Given the description of an element on the screen output the (x, y) to click on. 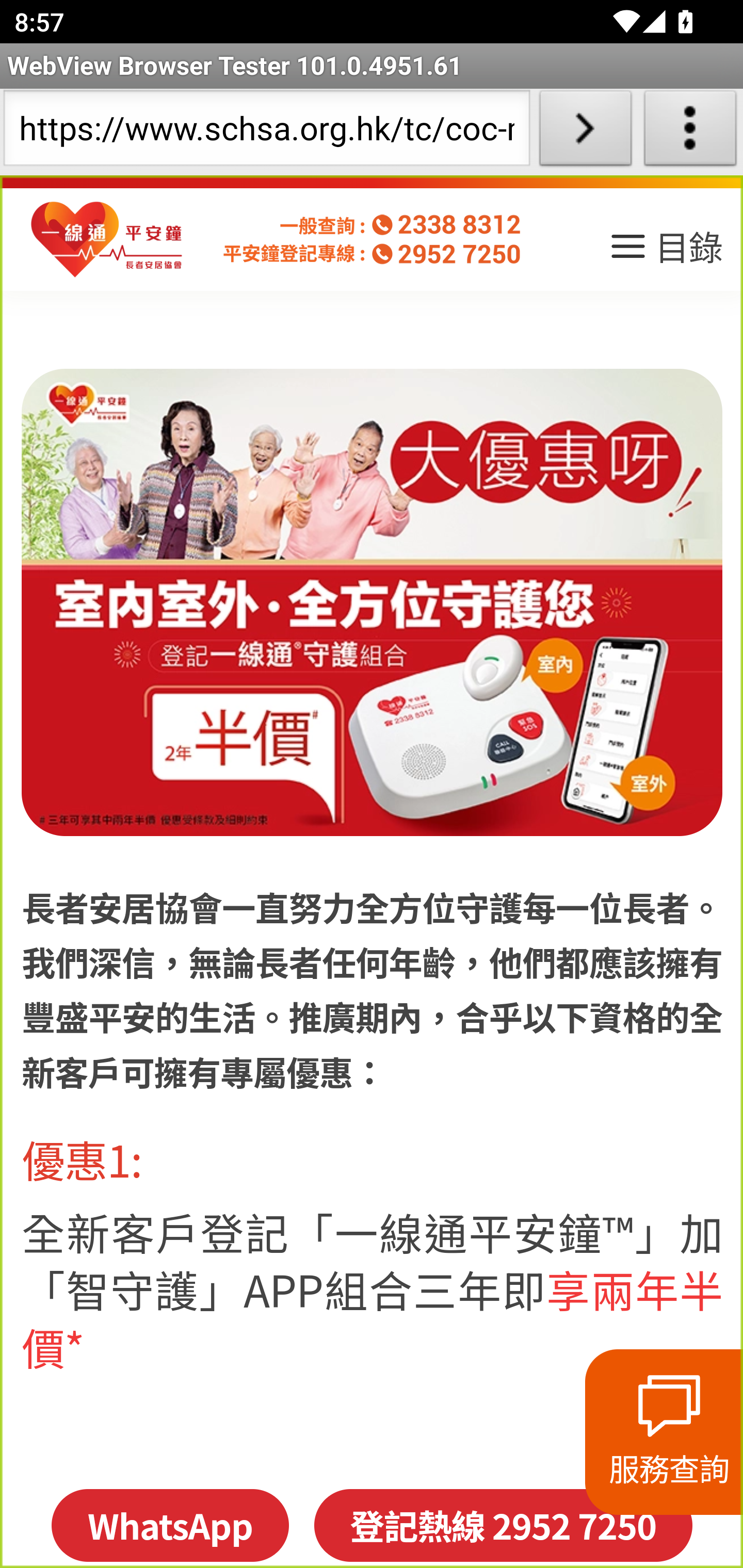
Load URL (585, 132)
About WebView (690, 132)
homepage (107, 240)
目錄 (665, 252)
服務查詢 (664, 1432)
WhatsApp (169, 1525)
登記熱線 2952 7250 (502, 1525)
